Given the description of an element on the screen output the (x, y) to click on. 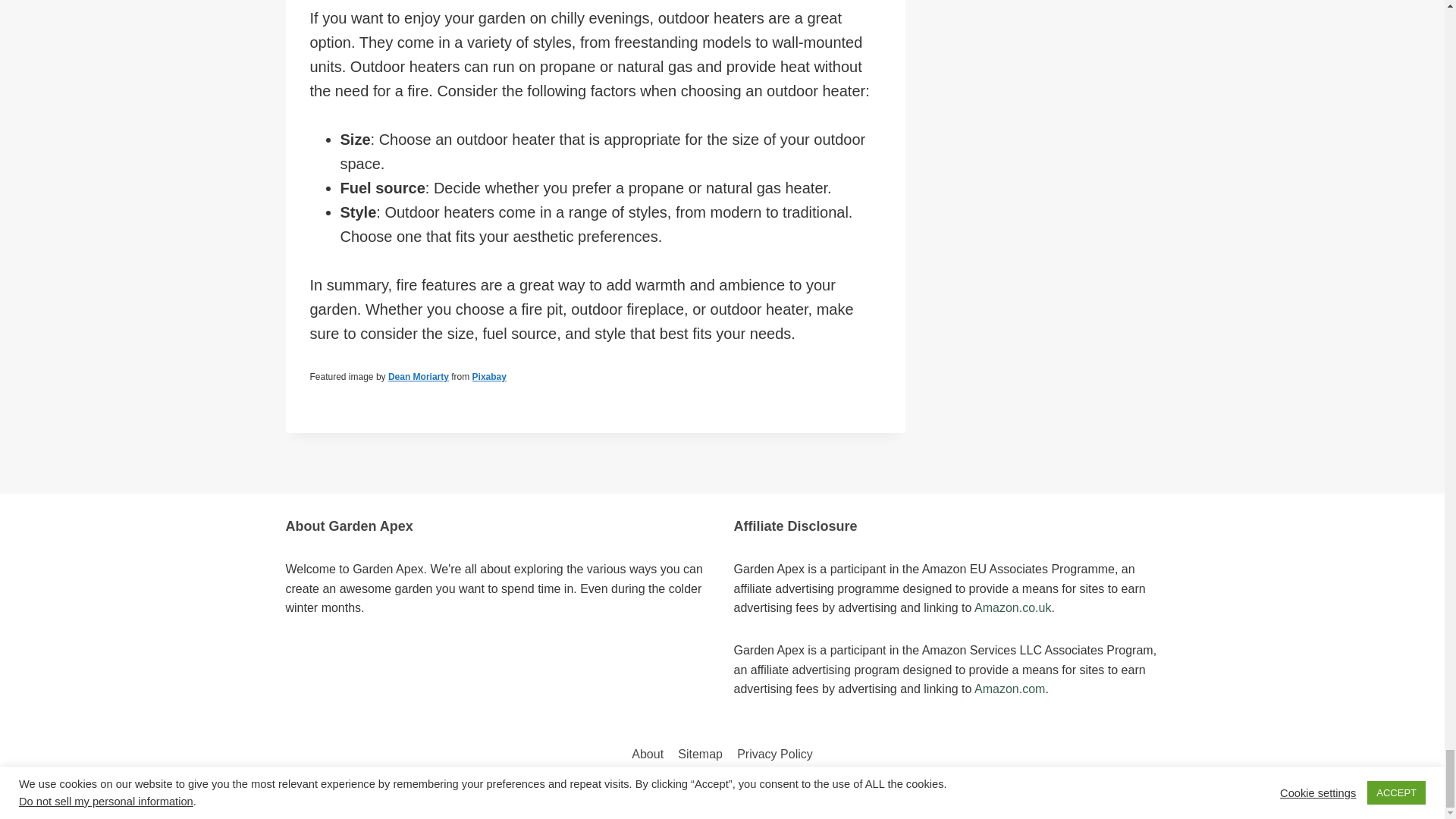
About (647, 754)
Pixabay (488, 376)
Privacy Policy (775, 754)
Dean Moriarty (418, 376)
Amazon.com (1009, 688)
Amazon.co.uk (1012, 607)
Sitemap (700, 754)
